Given the description of an element on the screen output the (x, y) to click on. 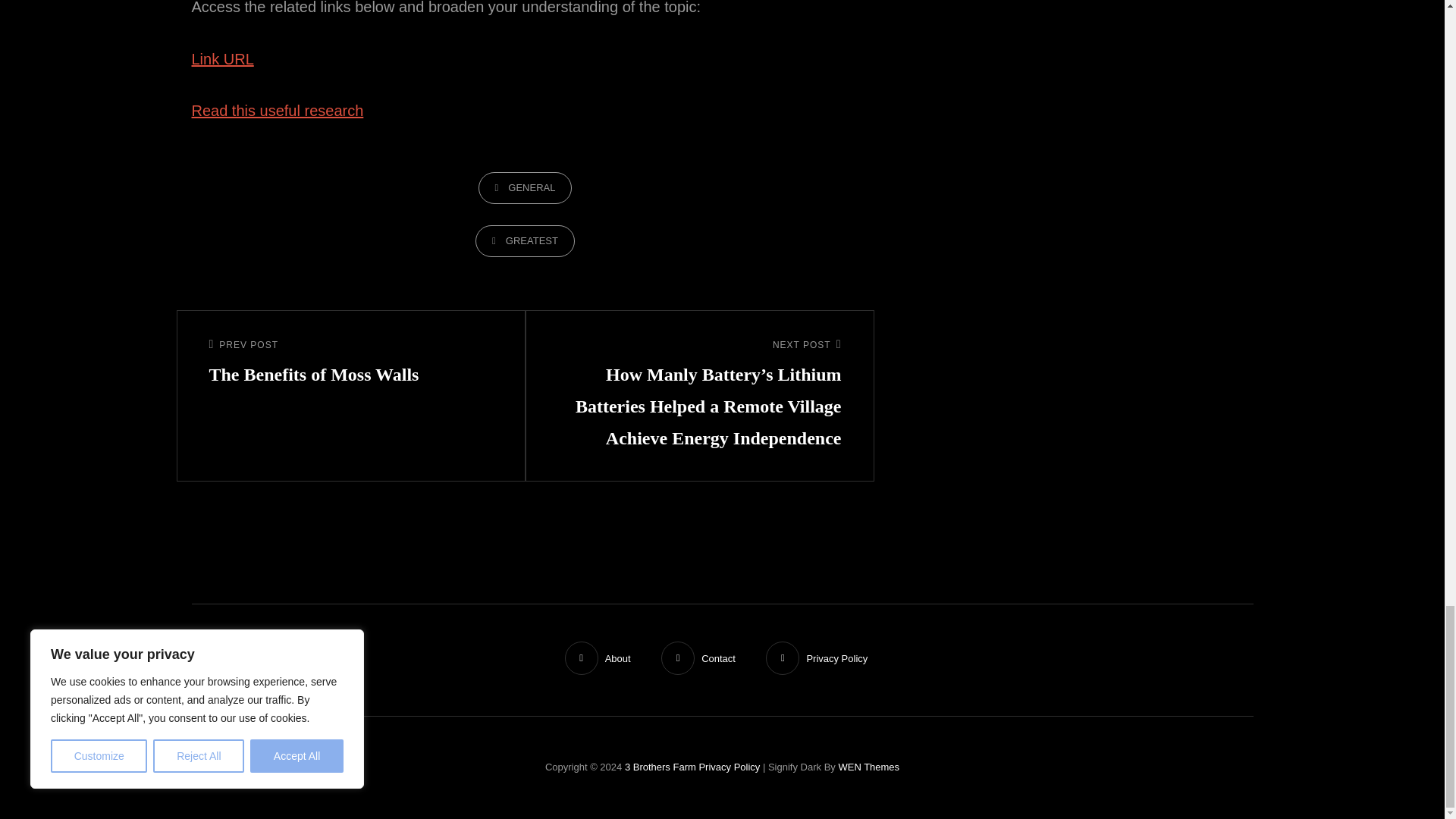
Link URL (221, 58)
GENERAL (525, 187)
GREATEST (525, 241)
Read this useful research (276, 110)
